Given the description of an element on the screen output the (x, y) to click on. 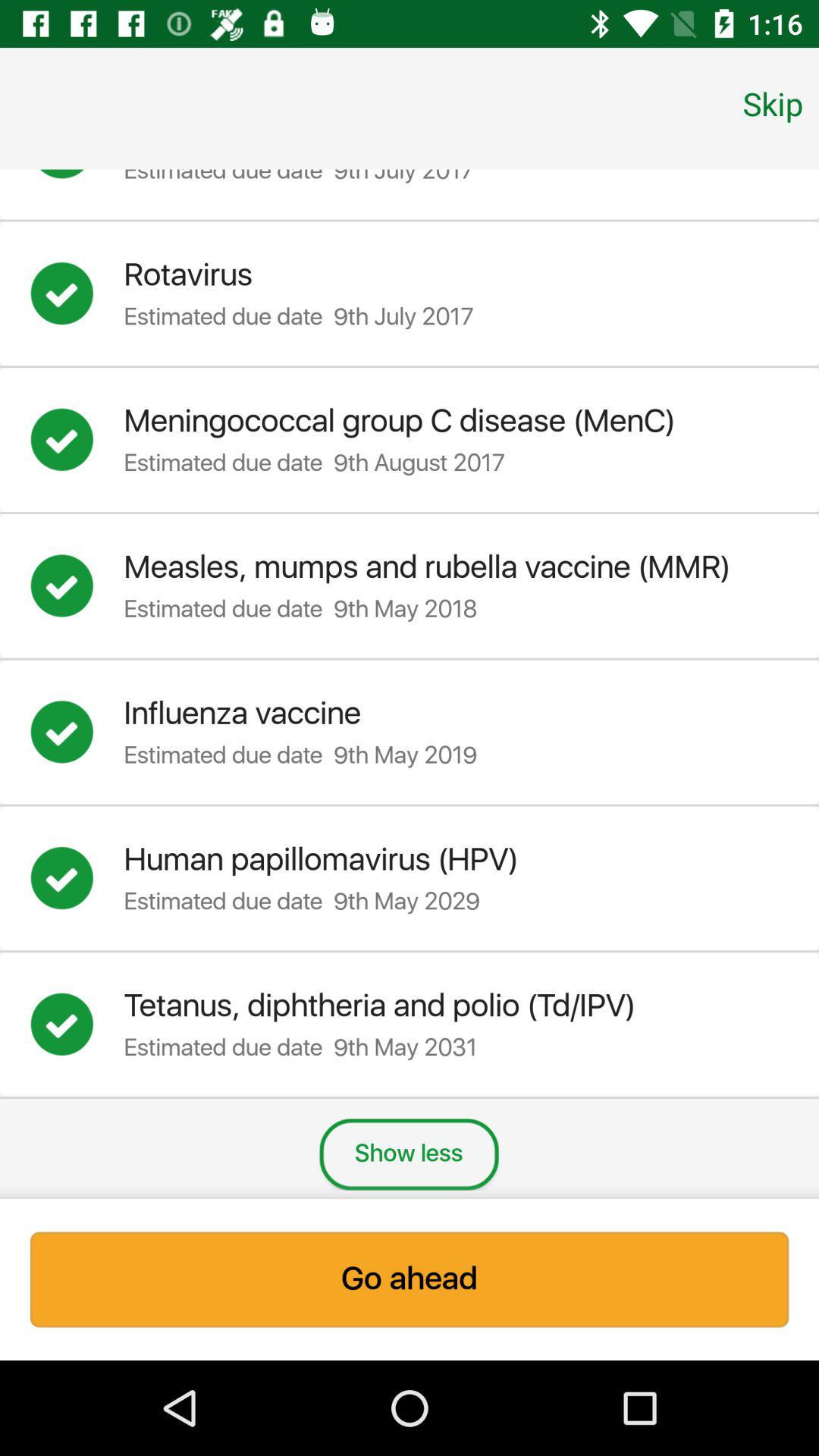
launch show less item (408, 1154)
